Given the description of an element on the screen output the (x, y) to click on. 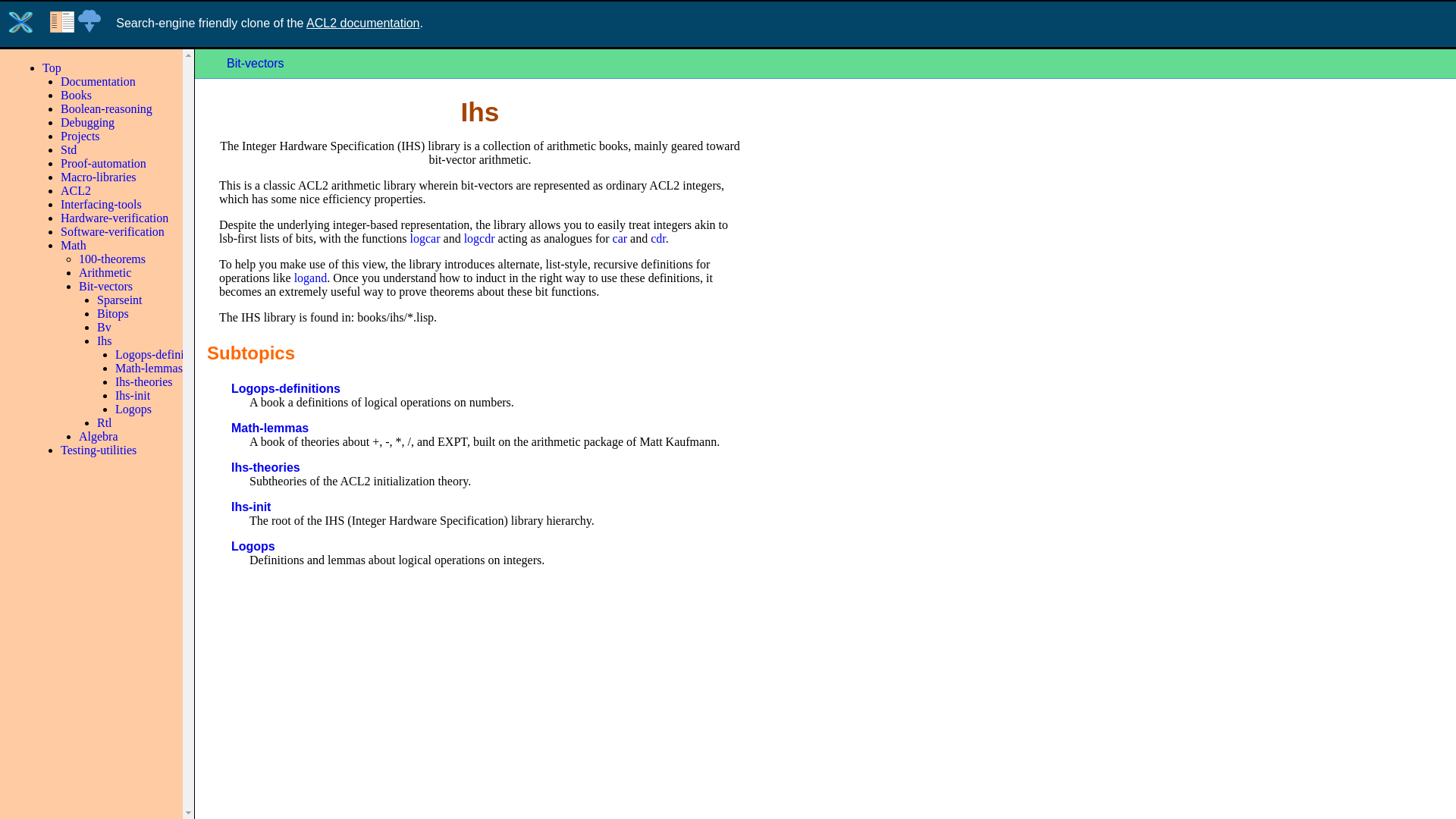
ACL2 documentation (362, 22)
